Given the description of an element on the screen output the (x, y) to click on. 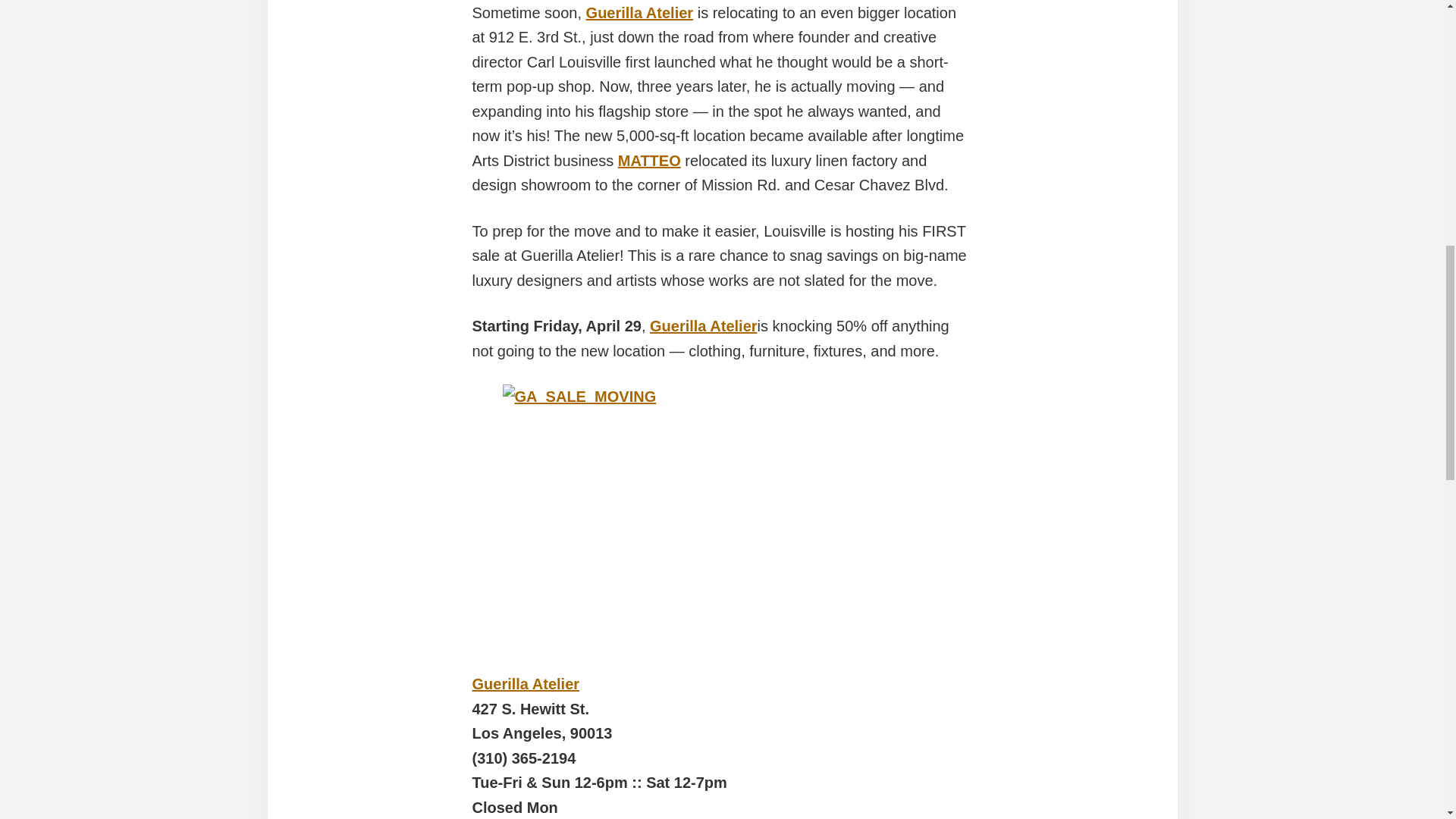
MATTEO (649, 160)
Guerilla Atelier (525, 683)
Guerilla Atelier (703, 325)
Guerilla Atelier (640, 12)
